Given the description of an element on the screen output the (x, y) to click on. 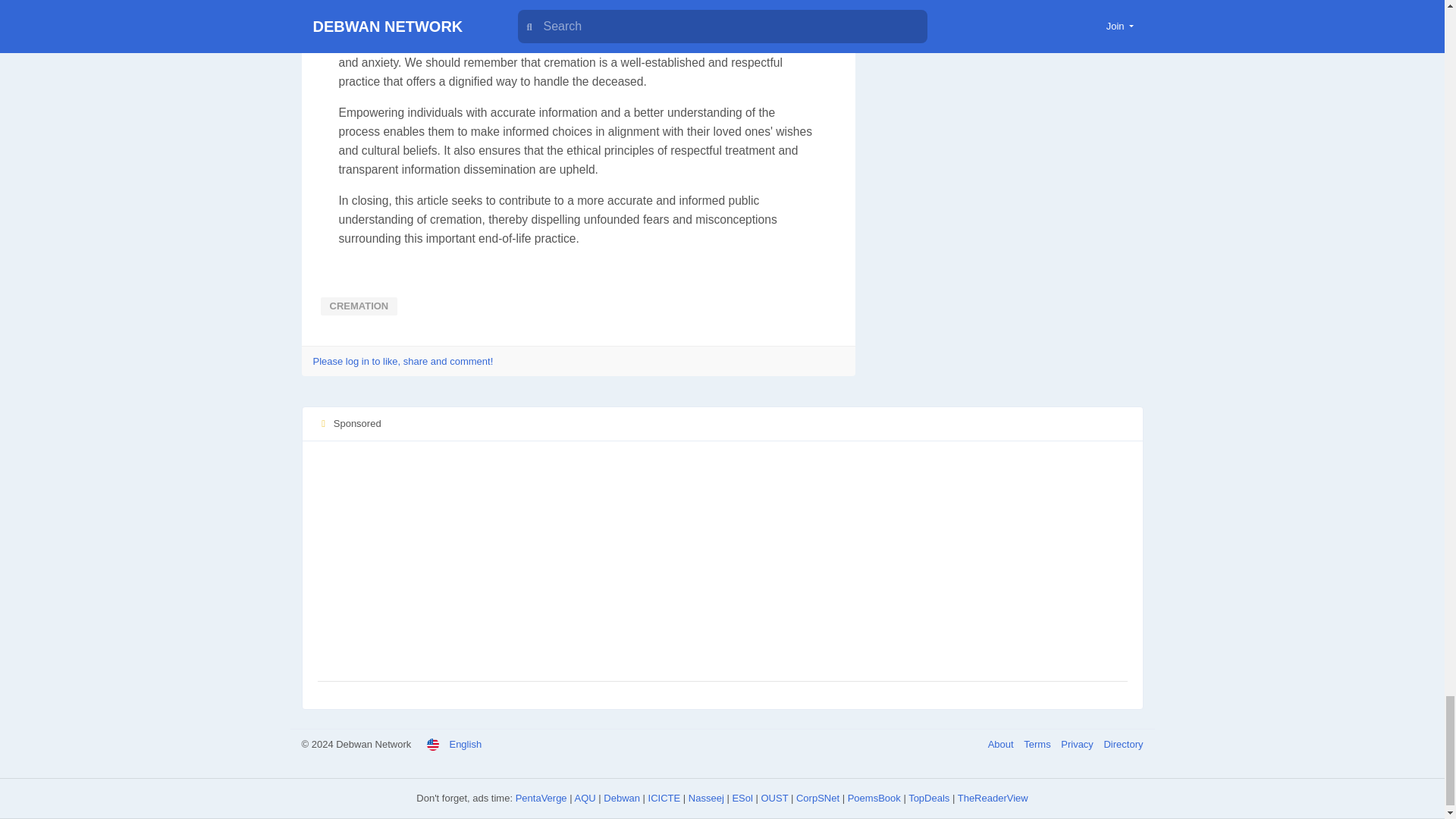
CREMATION (358, 306)
Please log in to like, share and comment! (403, 360)
